Given the description of an element on the screen output the (x, y) to click on. 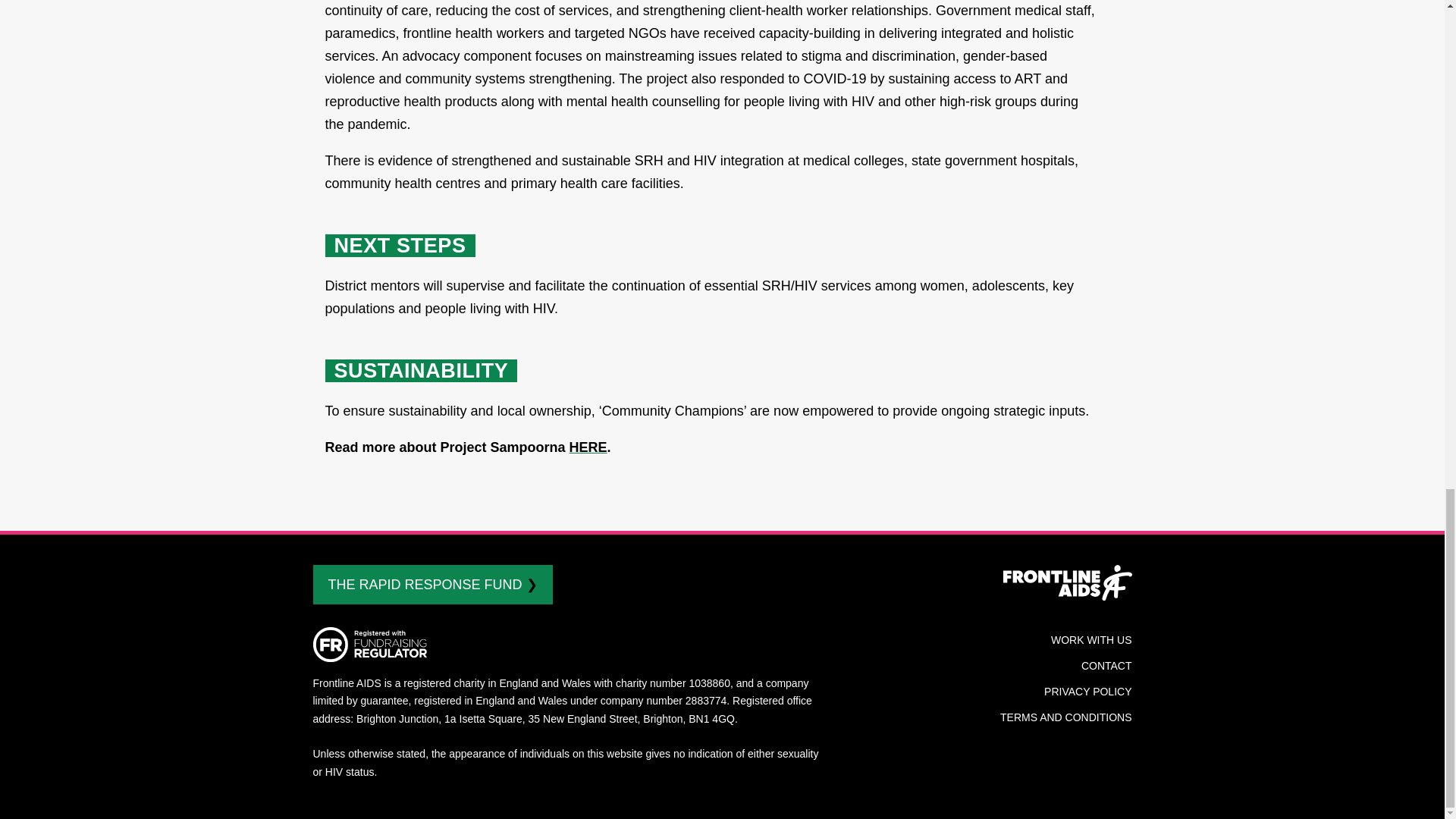
HERE (588, 447)
CONTACT (1106, 665)
THE RAPID RESPONSE FUND (432, 584)
WORK WITH US (1091, 639)
